Given the description of an element on the screen output the (x, y) to click on. 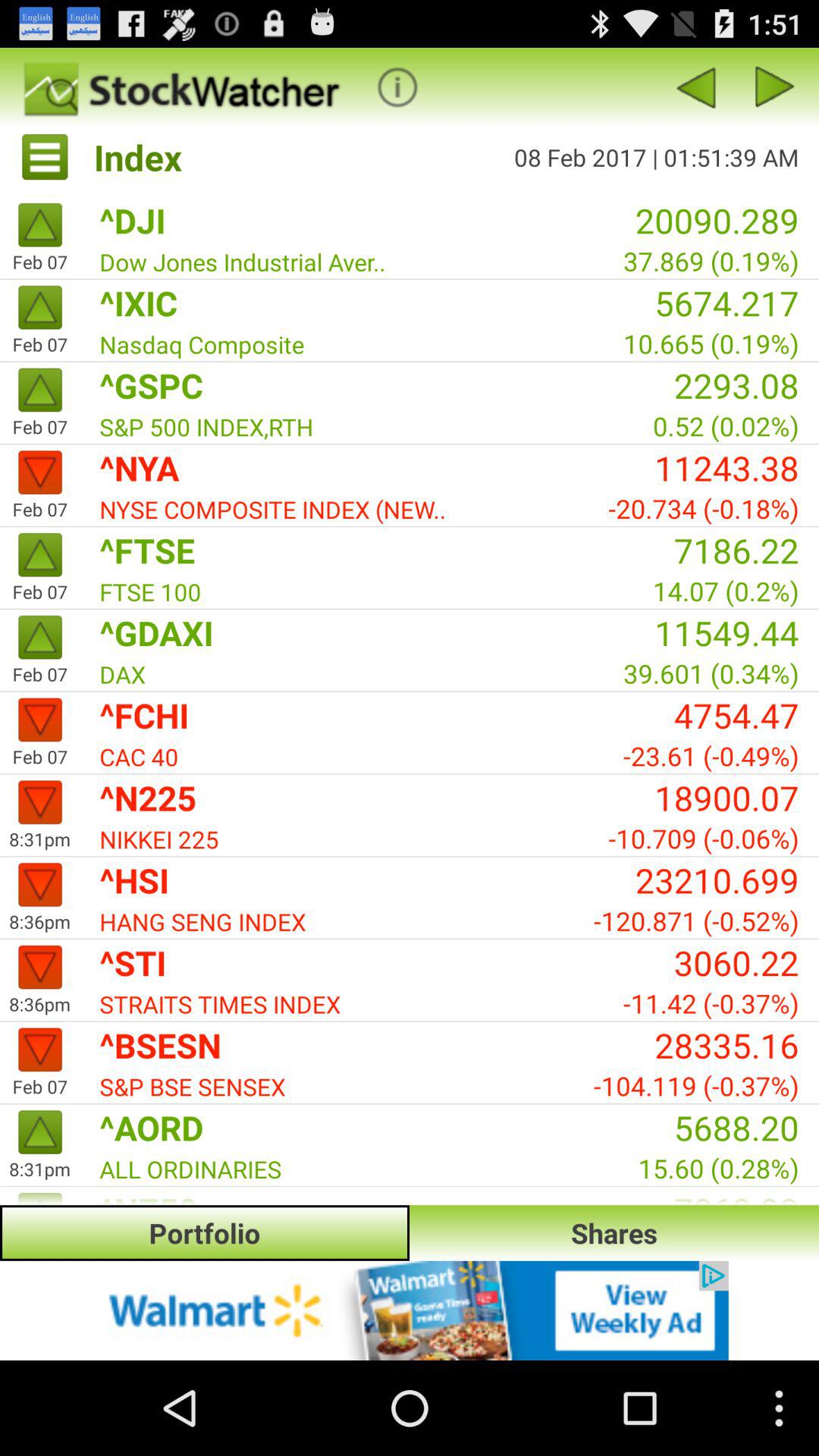
previous page (695, 87)
